Given the description of an element on the screen output the (x, y) to click on. 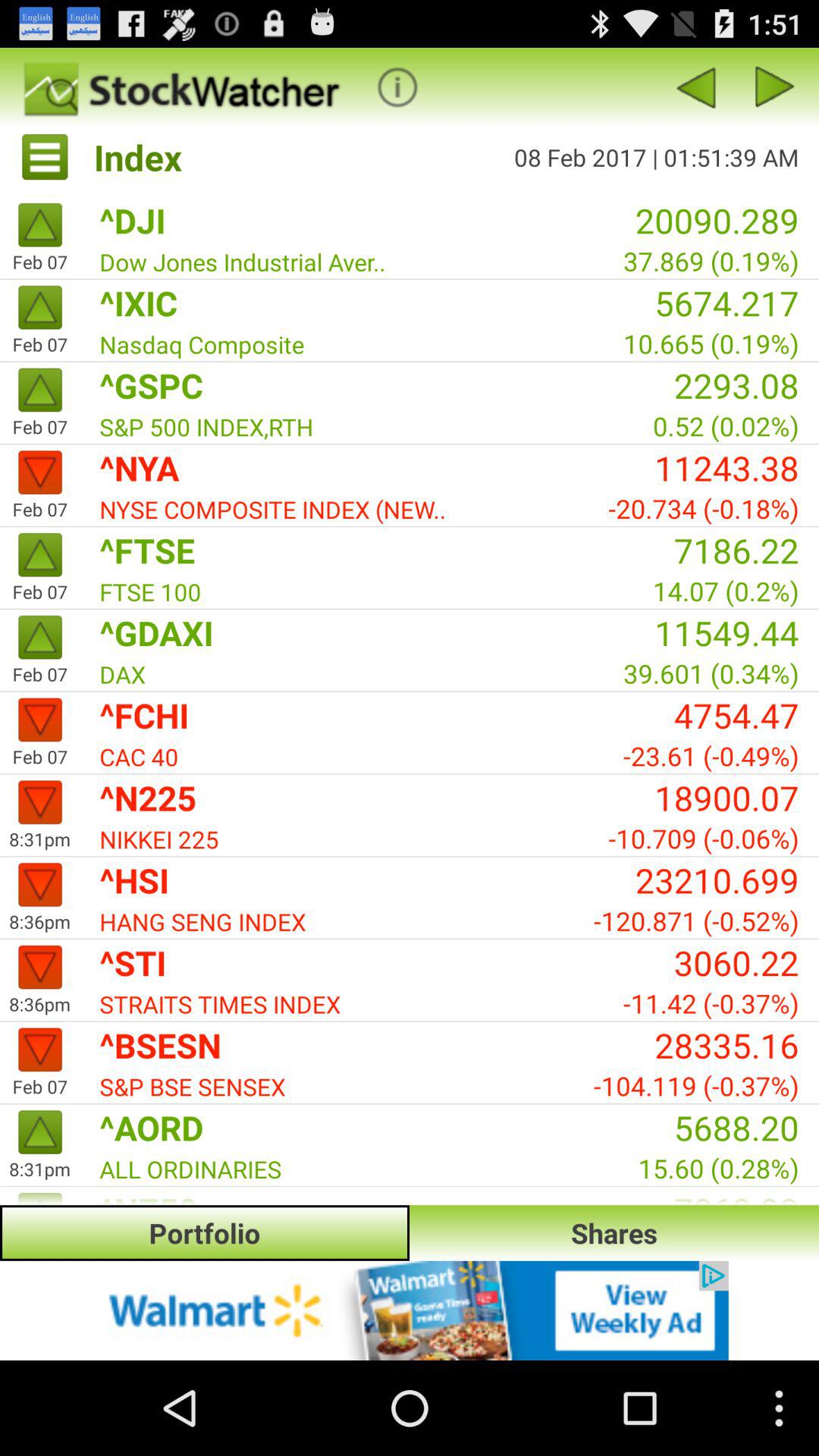
previous page (695, 87)
